Given the description of an element on the screen output the (x, y) to click on. 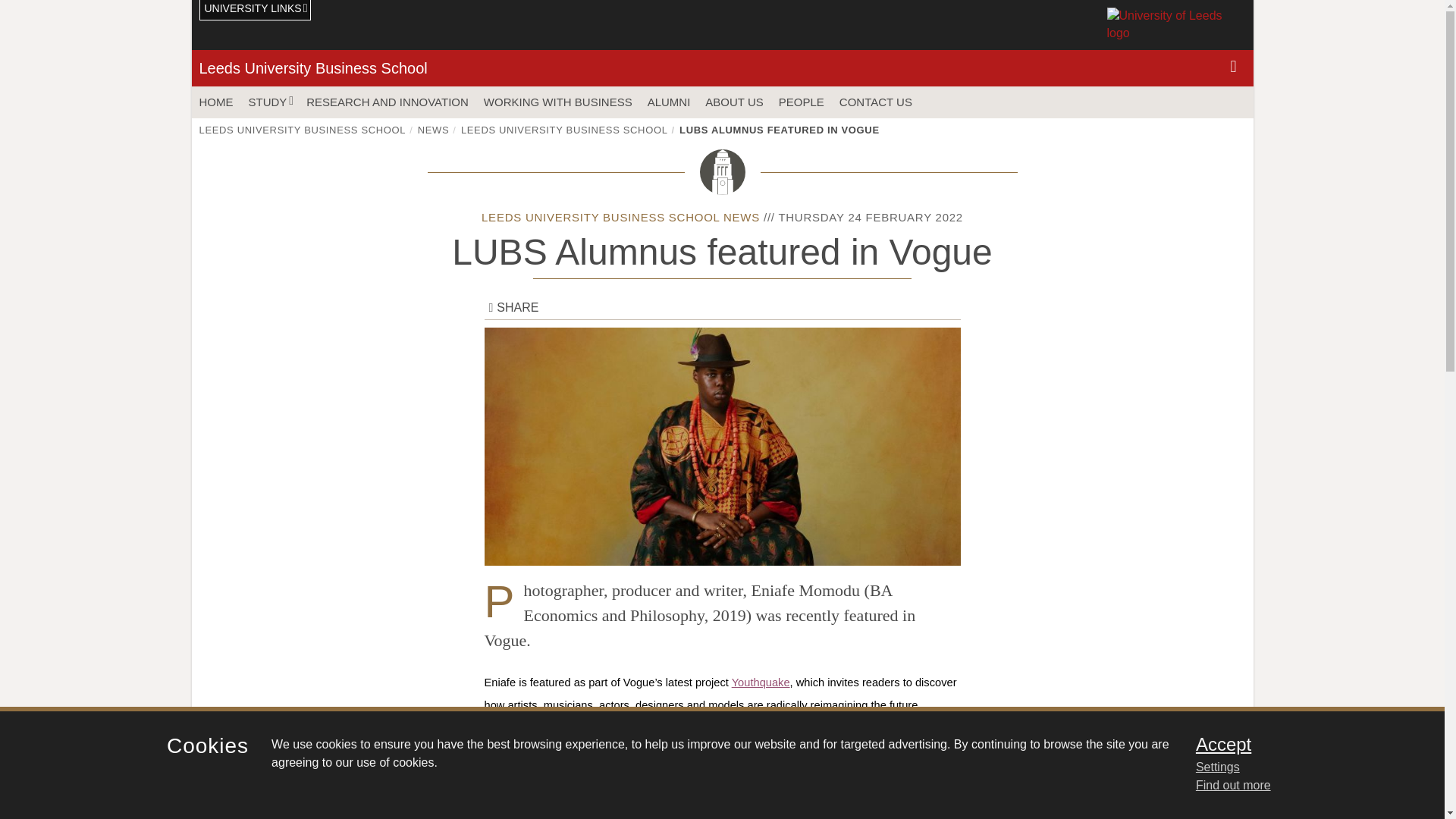
University of Leeds homepage (1176, 24)
Settings (1300, 767)
UNIVERSITY LINKS (254, 10)
Find out more (1233, 784)
Accept (1300, 744)
